Given the description of an element on the screen output the (x, y) to click on. 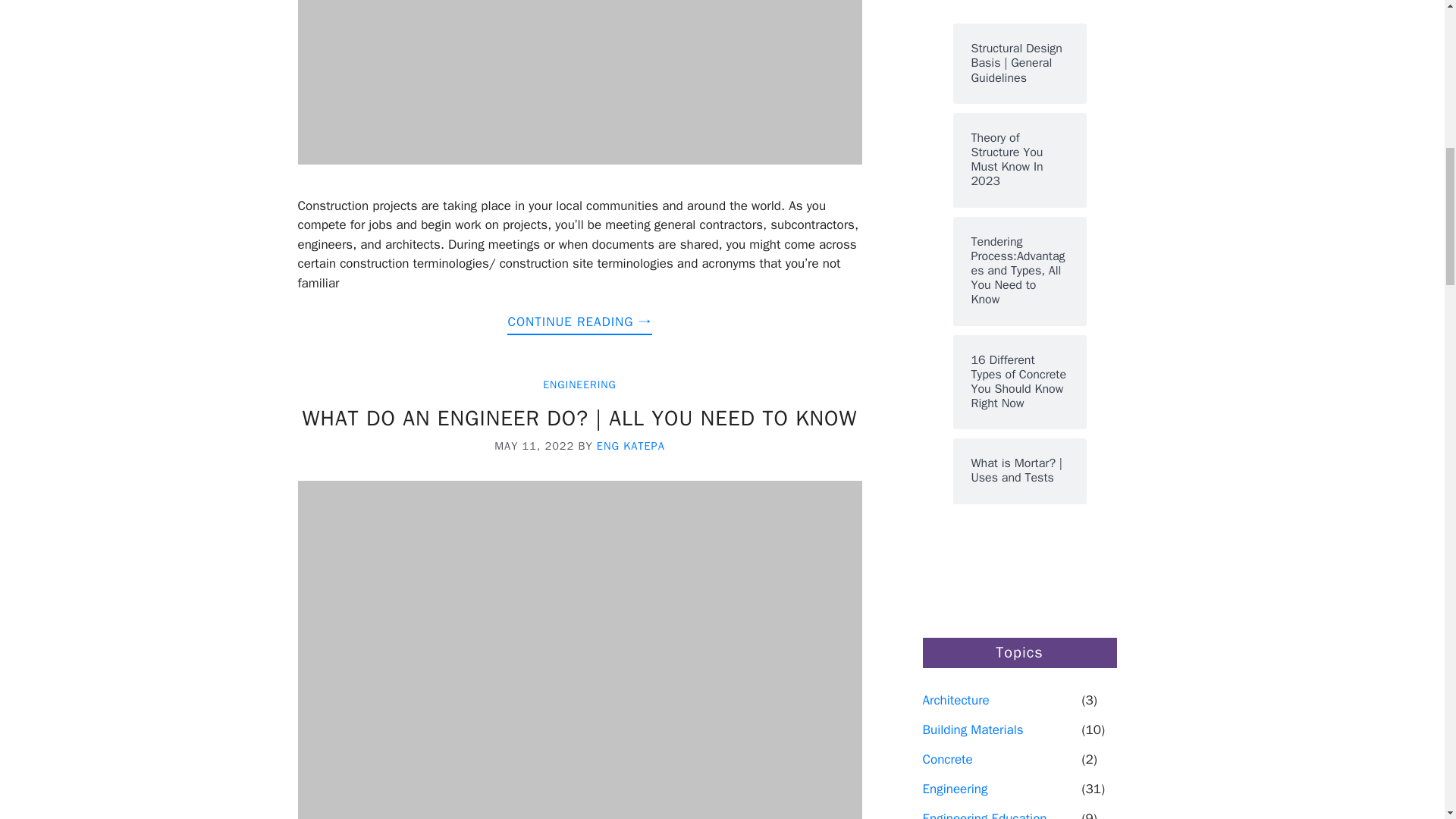
ENGINEERING (579, 384)
View all posts by Eng Katepa (630, 445)
ENG KATEPA (630, 445)
Scroll back to top (1406, 720)
